Given the description of an element on the screen output the (x, y) to click on. 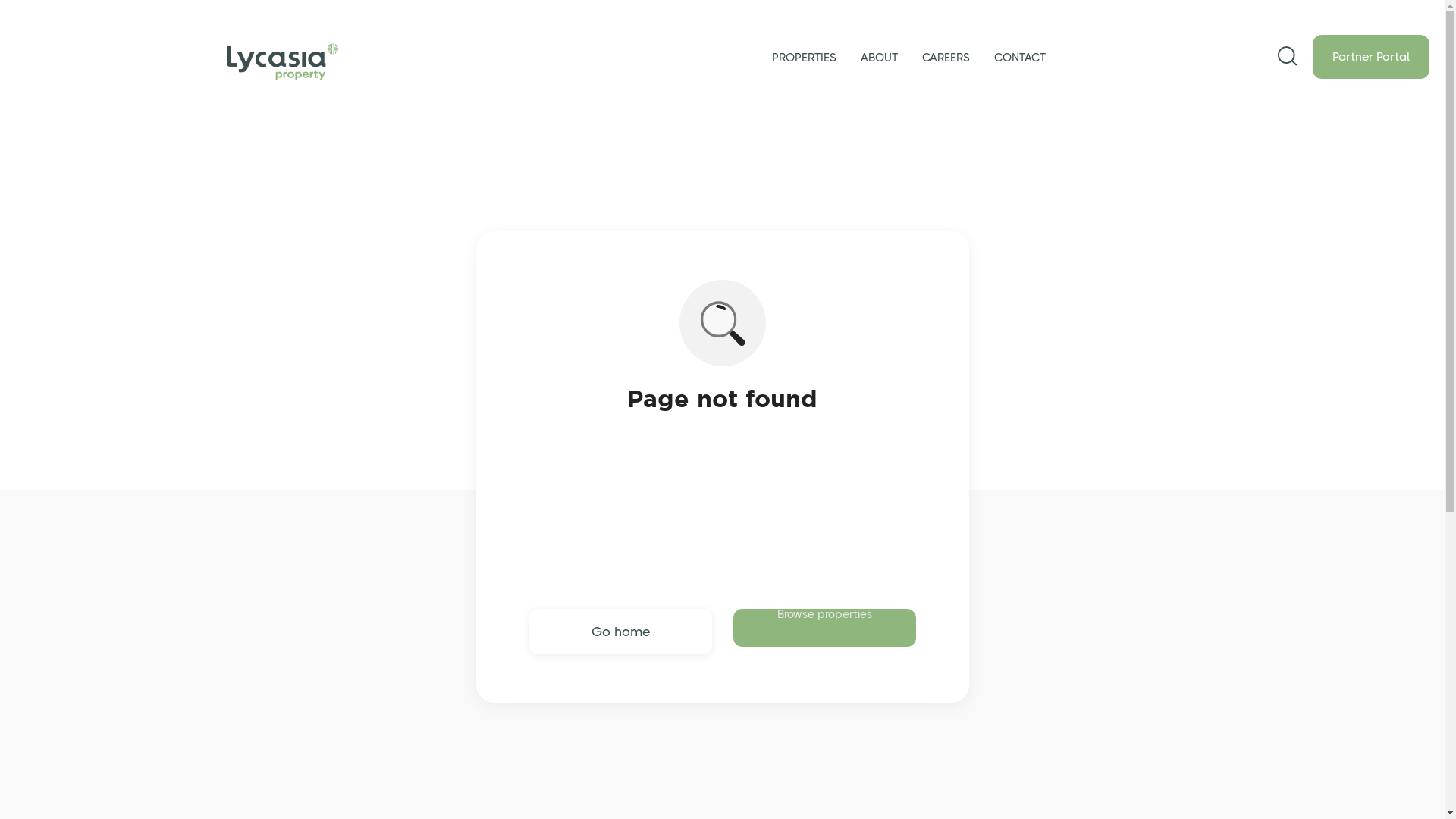
Go home Element type: text (620, 631)
PROPERTIES Element type: text (803, 57)
Browse properties Element type: text (823, 627)
Partner Portal Element type: text (1370, 56)
ABOUT Element type: text (878, 57)
CONTACT Element type: text (1019, 57)
CAREERS Element type: text (945, 57)
